Given the description of an element on the screen output the (x, y) to click on. 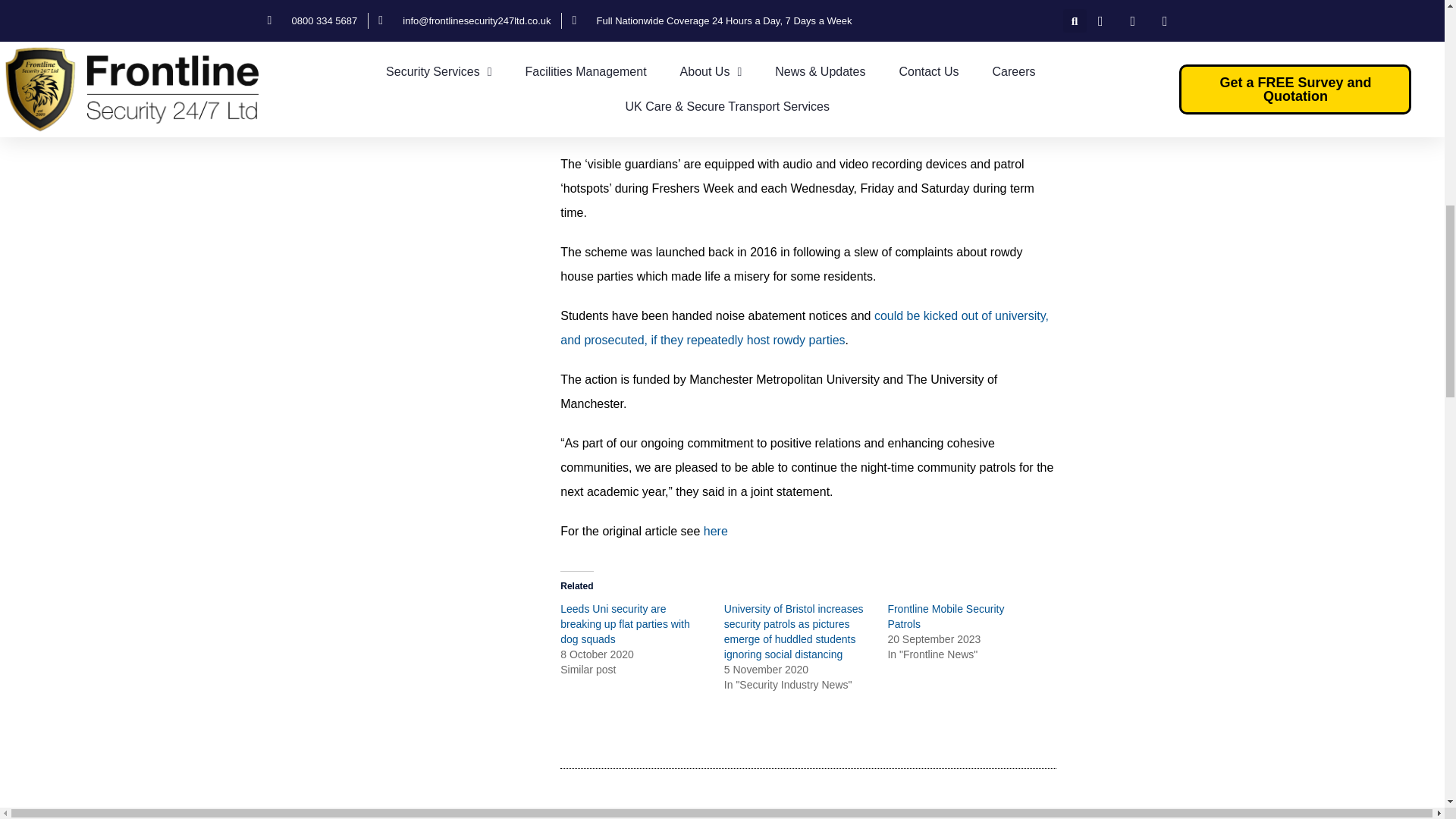
Frontline Mobile Security Patrols (945, 615)
